Given the description of an element on the screen output the (x, y) to click on. 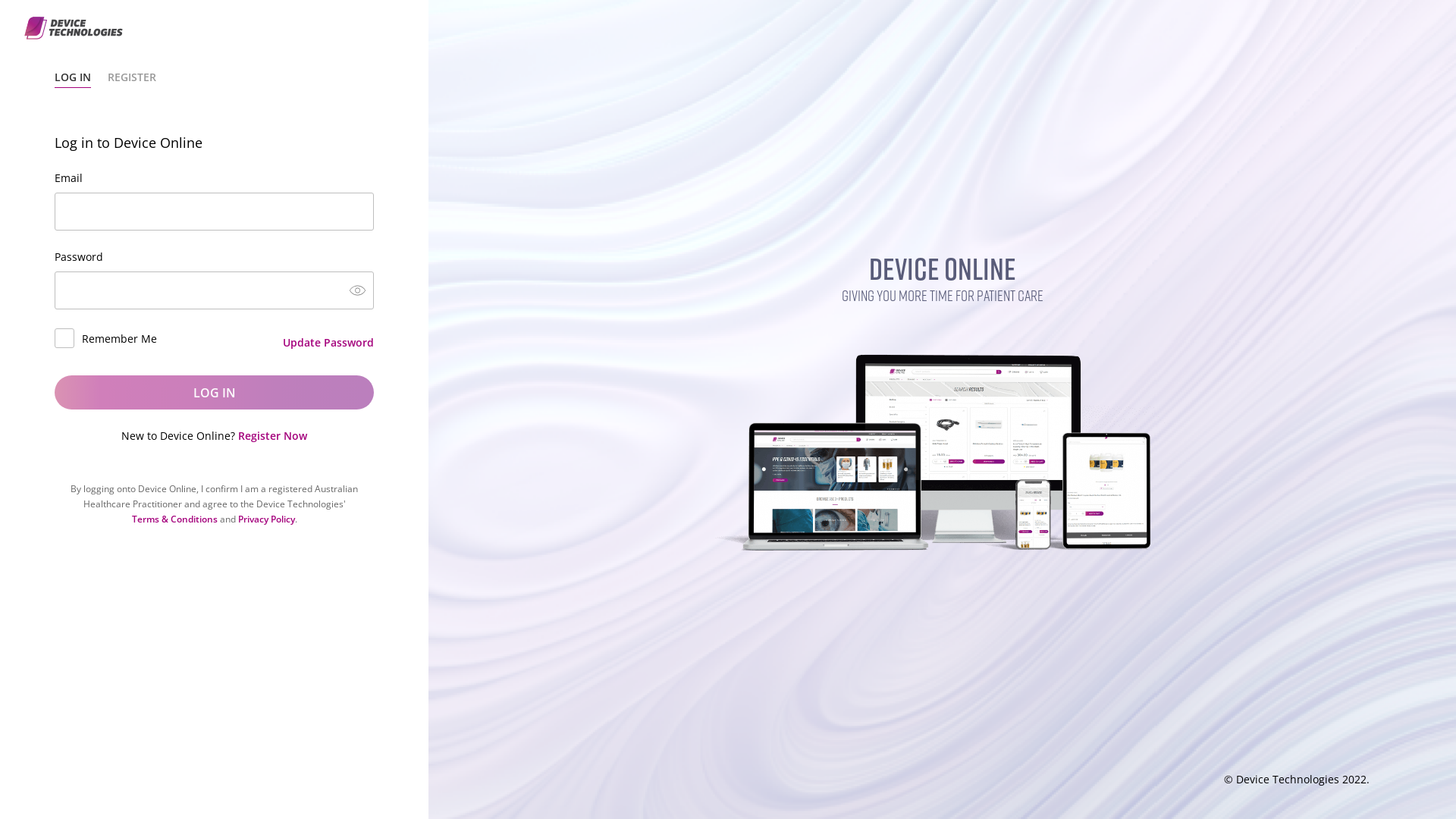
Privacy Policy Element type: text (266, 519)
Terms & Conditions Element type: text (174, 519)
Device Online Element type: hover (942, 435)
LOG IN Element type: text (213, 392)
Update Password Element type: text (327, 342)
Device Technologies Element type: hover (73, 27)
Reveal Password Element type: text (357, 290)
Register Now Element type: text (272, 435)
